Given the description of an element on the screen output the (x, y) to click on. 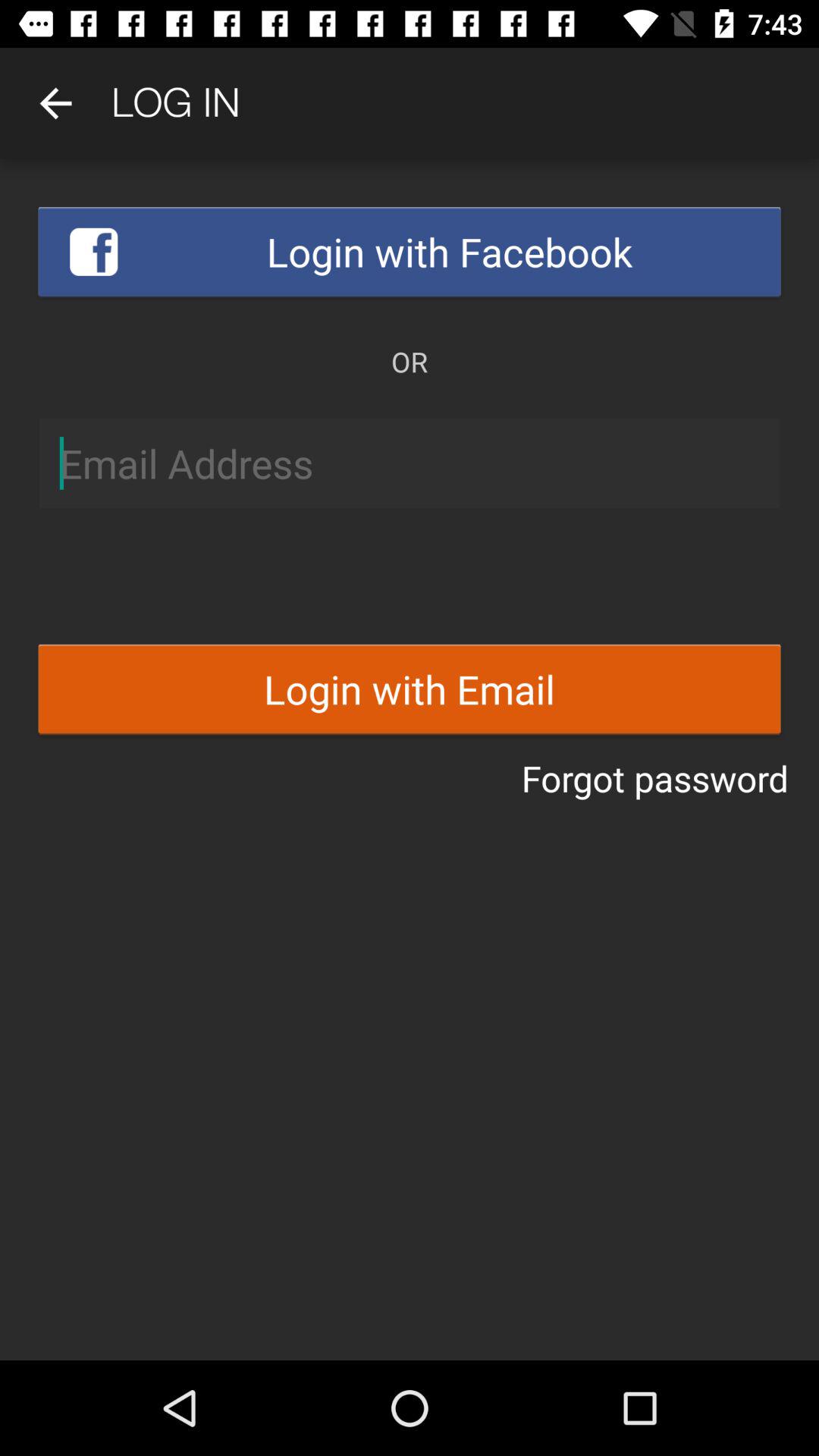
turn on item next to the log in icon (55, 103)
